Given the description of an element on the screen output the (x, y) to click on. 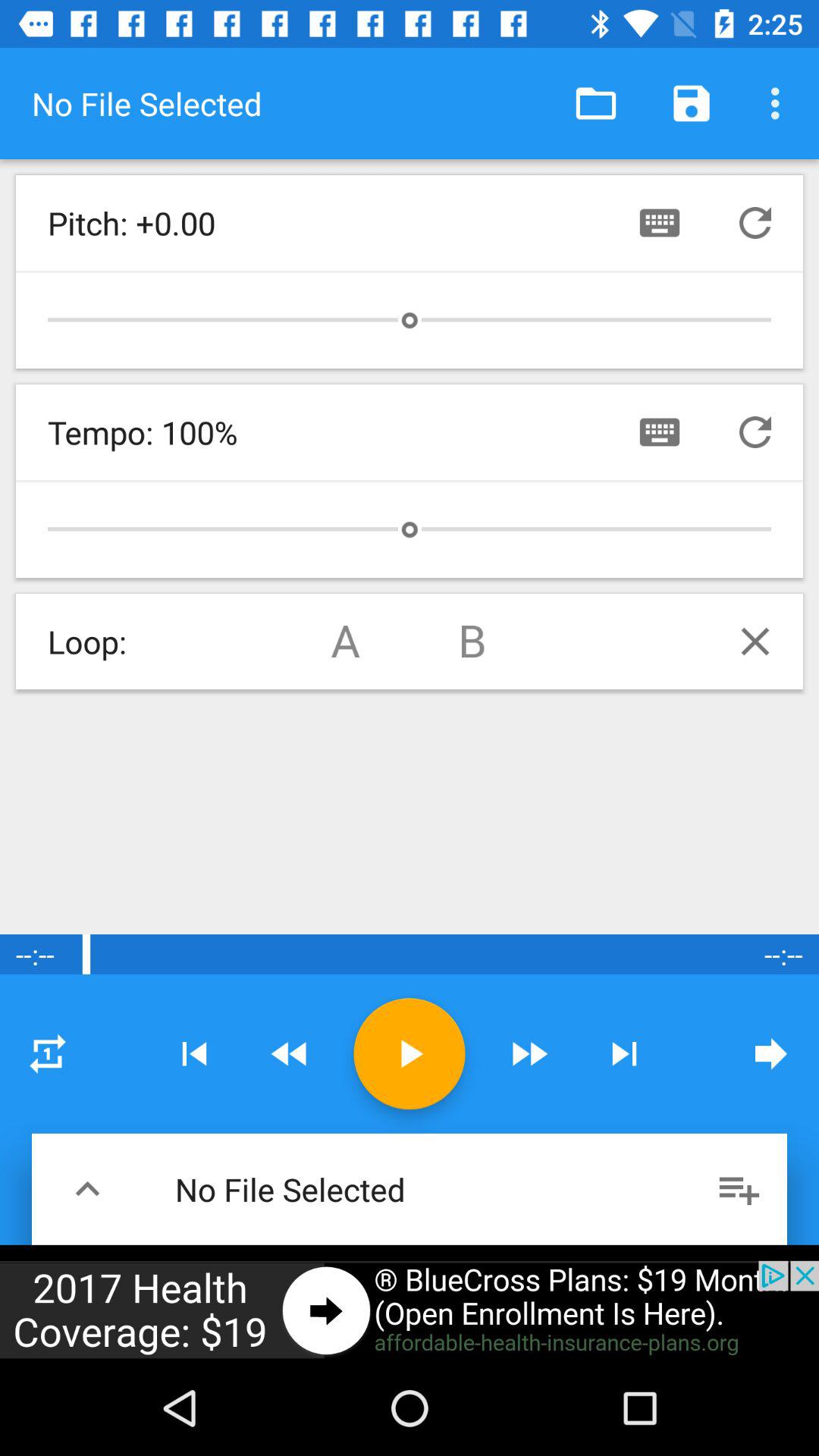
go back (289, 1053)
